Given the description of an element on the screen output the (x, y) to click on. 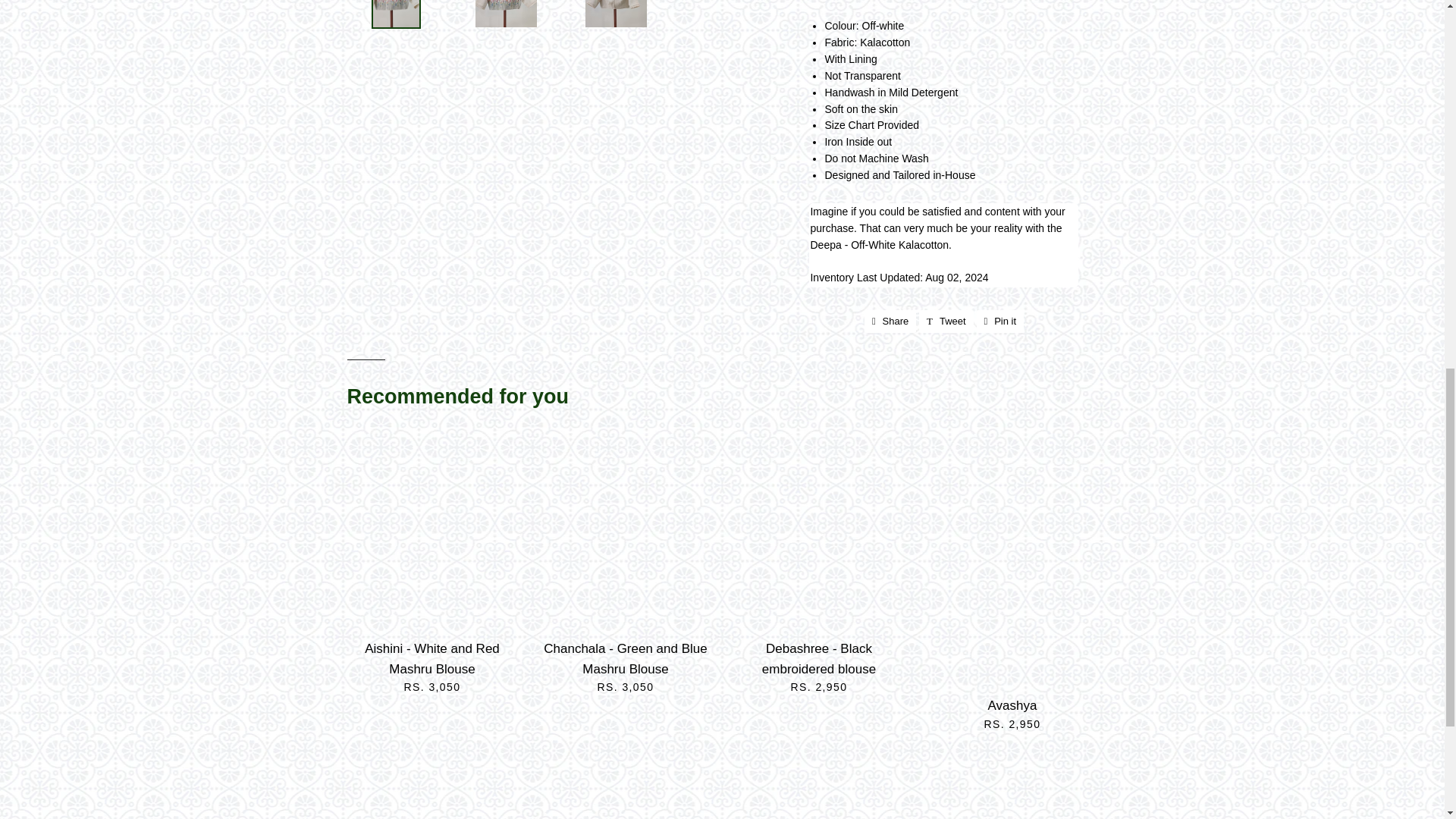
Tweet on Twitter (946, 321)
Share on Facebook (889, 321)
Pin on Pinterest (1000, 321)
